Given the description of an element on the screen output the (x, y) to click on. 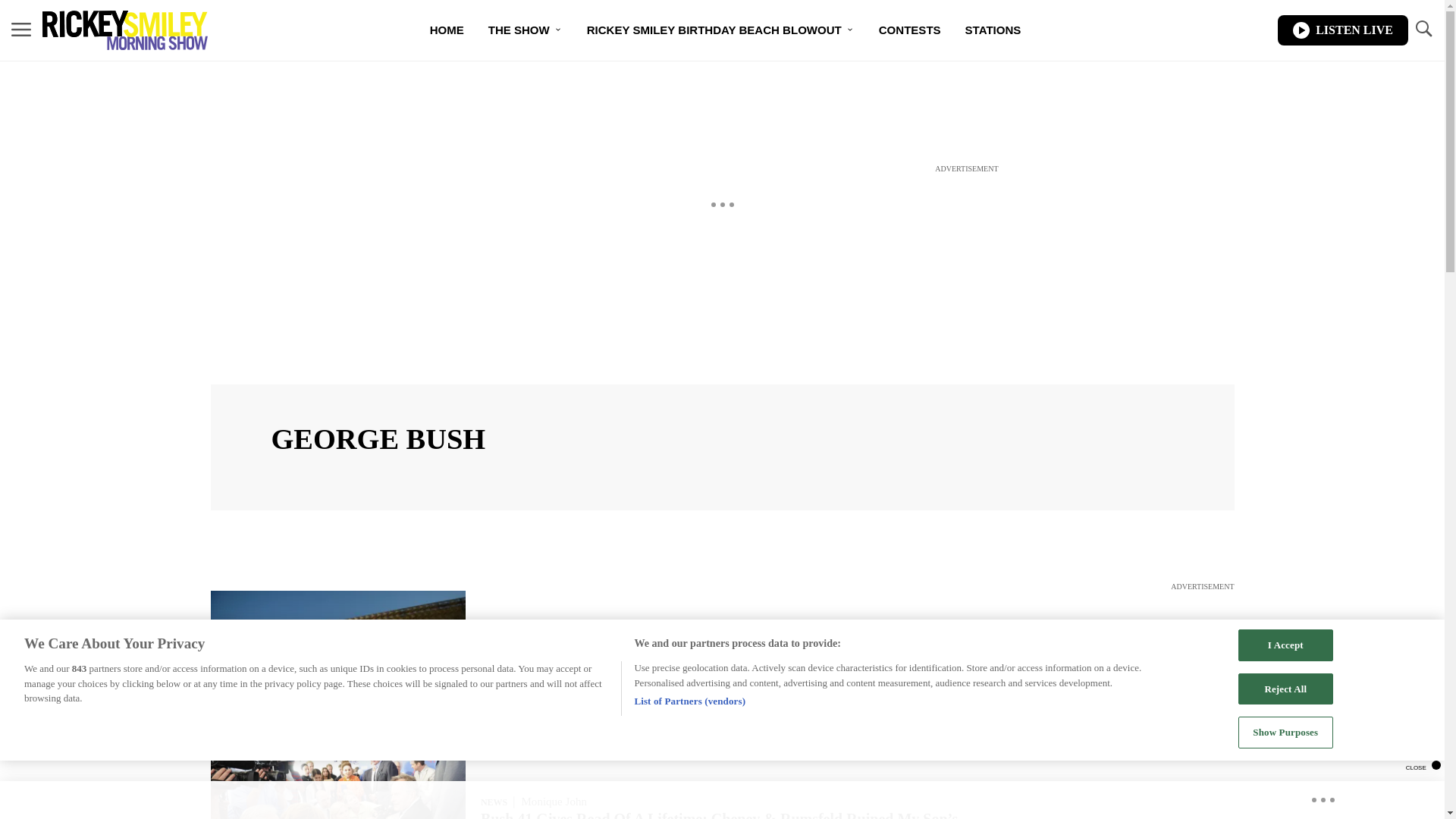
16 ITEMS (338, 729)
Stations (993, 30)
STATIONS (993, 30)
RICKEY SMILEY BIRTHDAY BEACH BLOWOUT (720, 30)
MENU (20, 30)
TOGGLE SEARCH (1422, 30)
Media Playlist (338, 661)
LISTEN LIVE (1342, 30)
MENU (20, 29)
